Given the description of an element on the screen output the (x, y) to click on. 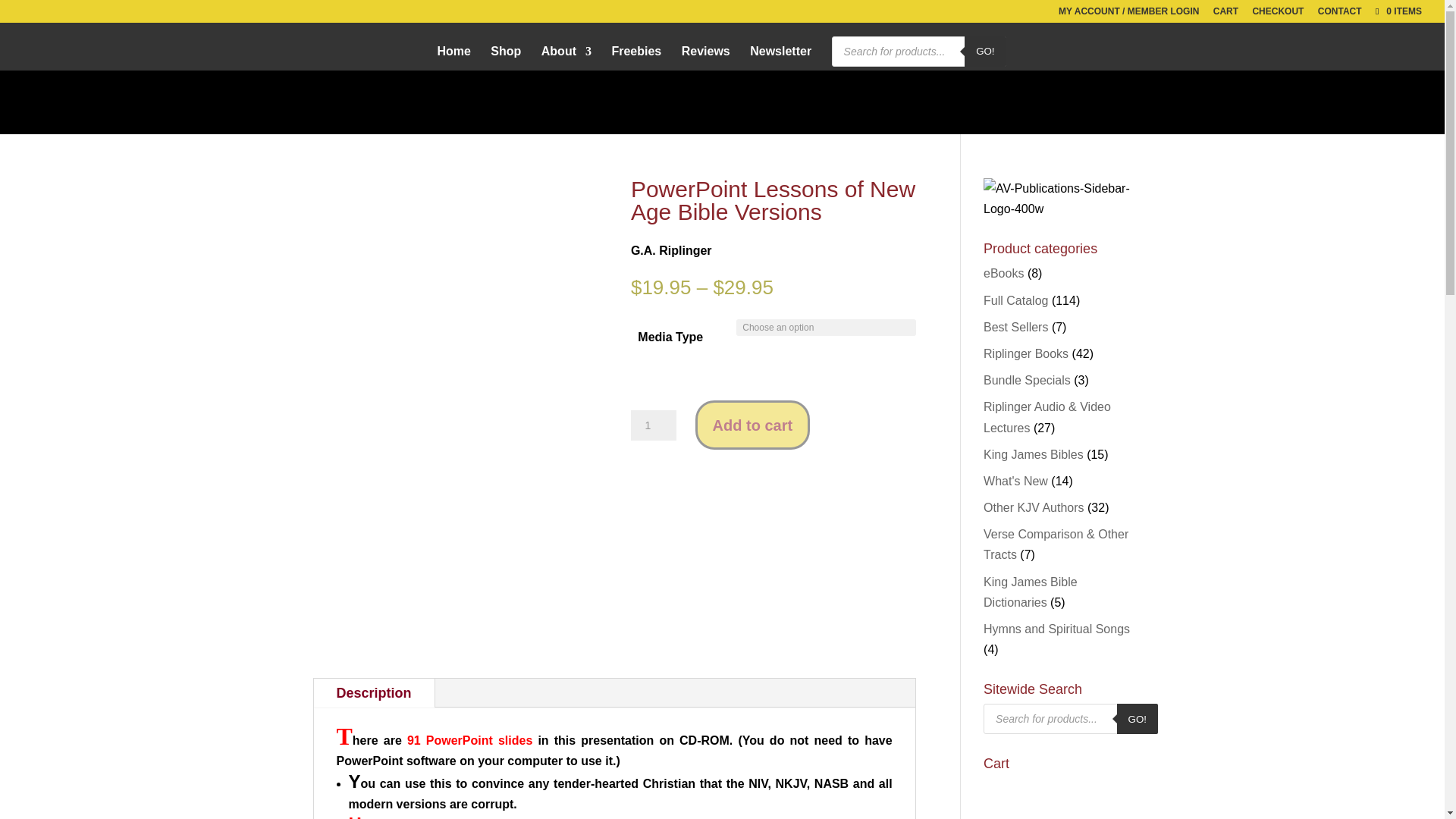
CHECKOUT (1277, 14)
Freebies (636, 57)
eBooks (1003, 273)
Add to cart (752, 424)
CART (1225, 14)
Home (453, 57)
CONTACT (1339, 14)
Description (373, 693)
Full Catalog (1016, 300)
1 (653, 425)
